Given the description of an element on the screen output the (x, y) to click on. 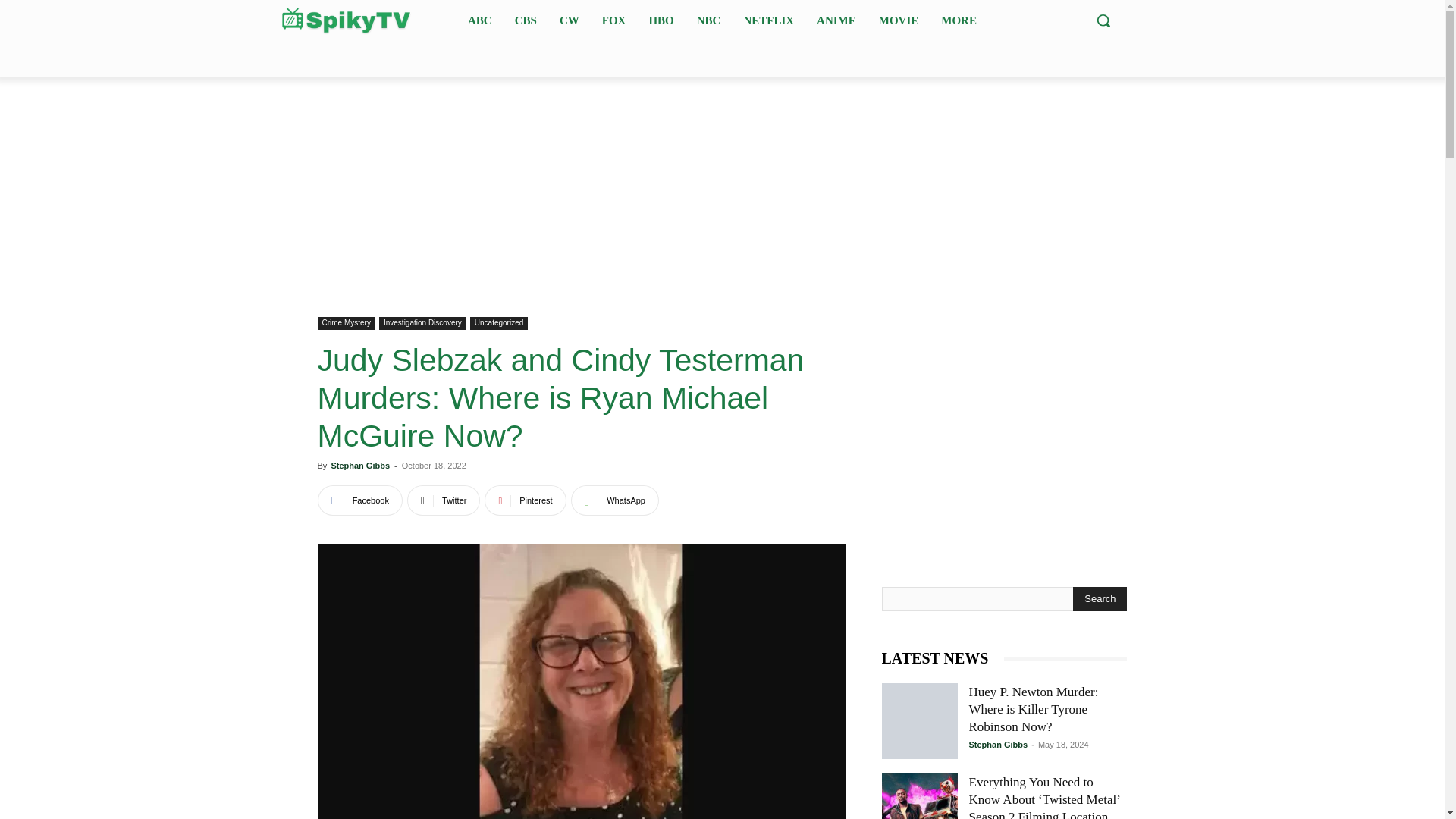
Twitter (443, 500)
NETFLIX (768, 20)
CBS (525, 20)
WhatsApp (614, 500)
ANIME (836, 20)
Facebook (359, 500)
ABC (479, 20)
MOVIE (898, 20)
FOX (613, 20)
MORE (958, 20)
